Given the description of an element on the screen output the (x, y) to click on. 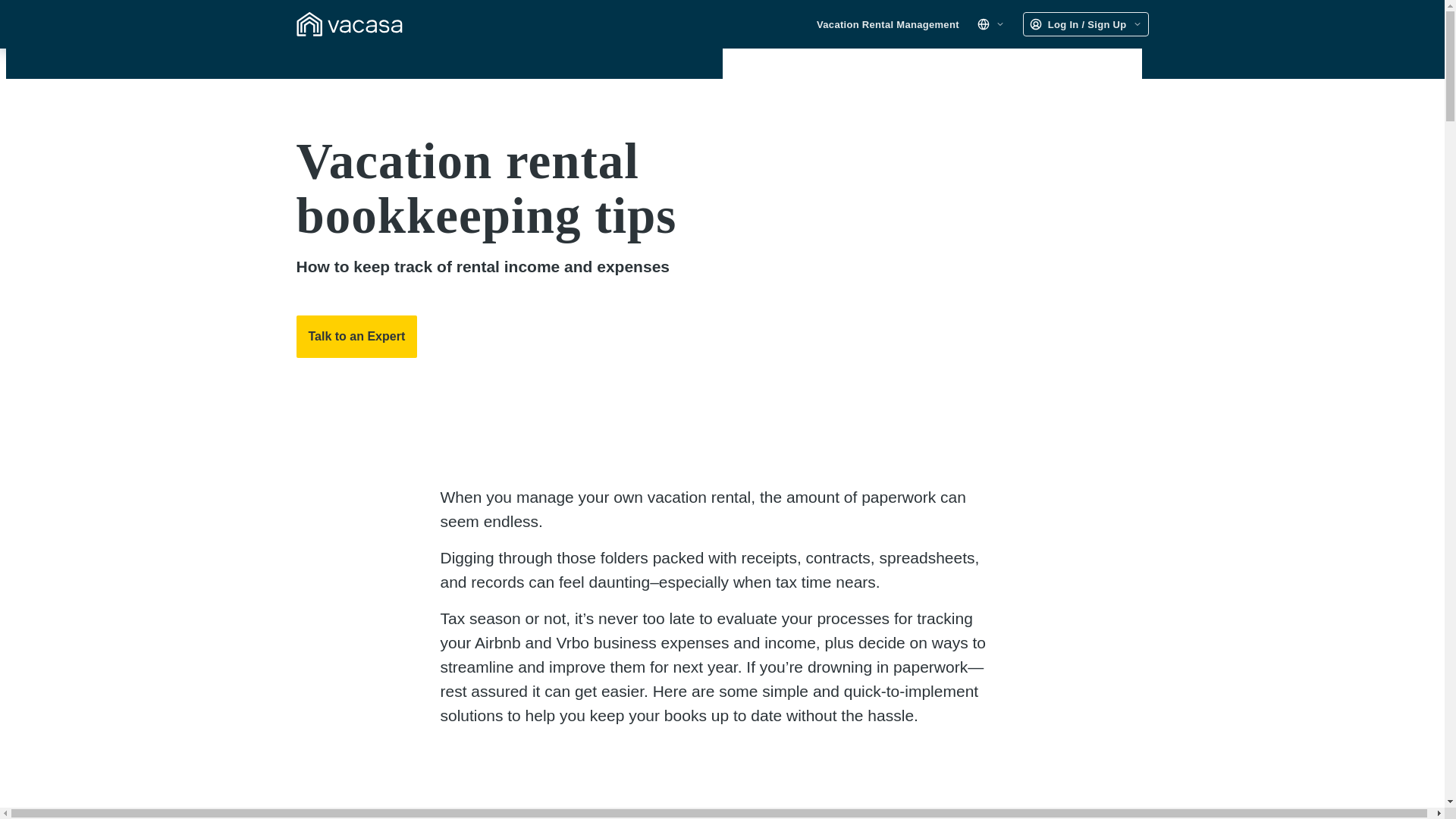
Vacation Rental Management (887, 24)
Talk to an Expert (355, 336)
